Given the description of an element on the screen output the (x, y) to click on. 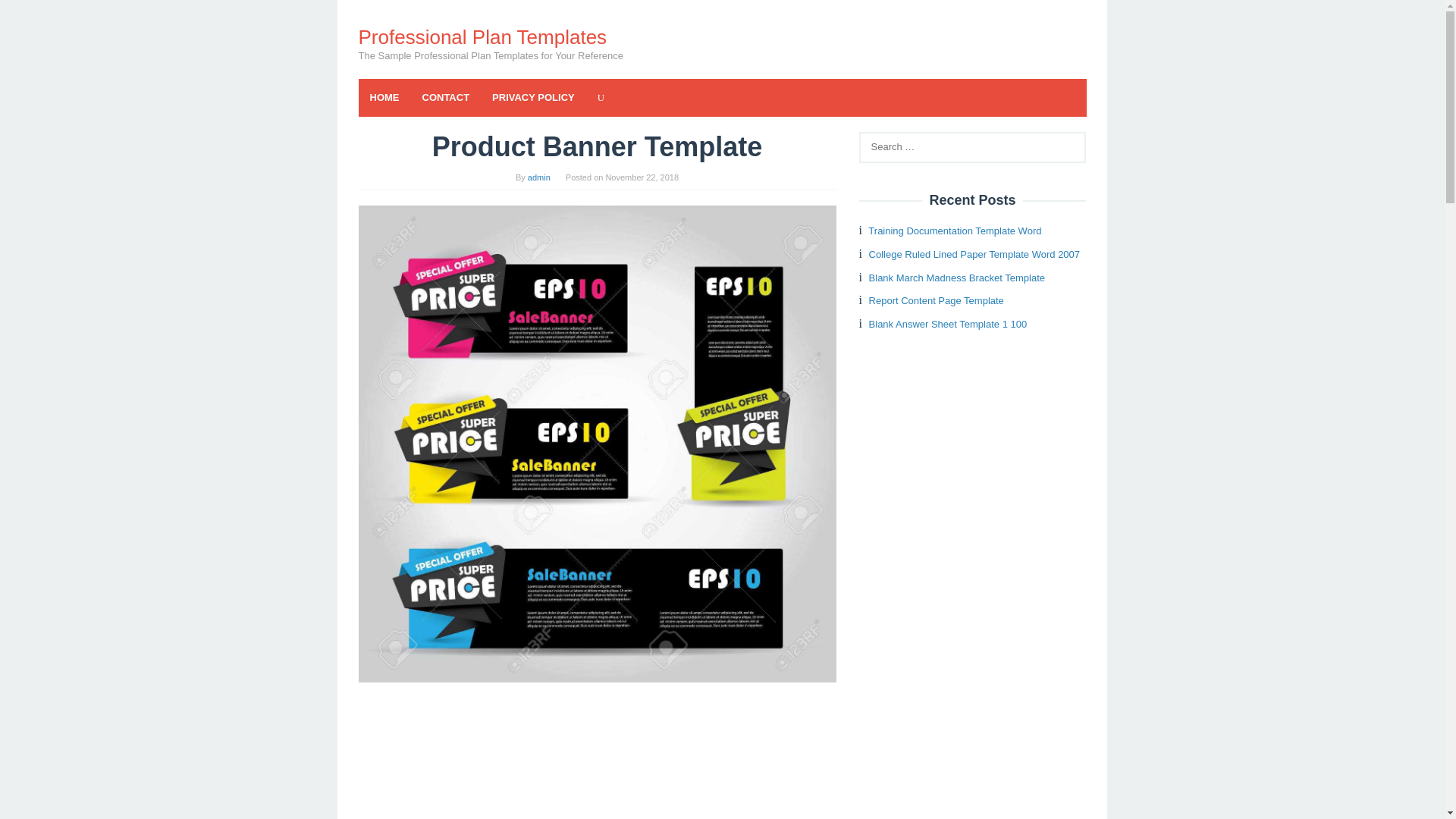
Professional Plan Templates (482, 36)
Blank Answer Sheet Template 1 100 (948, 324)
HOME (384, 97)
Report Content Page Template (936, 300)
Permalink to: admin (538, 176)
Search (27, 15)
Blank March Madness Bracket Template (957, 277)
PRIVACY POLICY (533, 97)
admin (538, 176)
Professional Plan Templates (482, 36)
Training Documentation Template Word (954, 230)
College Ruled Lined Paper Template Word 2007 (974, 254)
CONTACT (445, 97)
